Given the description of an element on the screen output the (x, y) to click on. 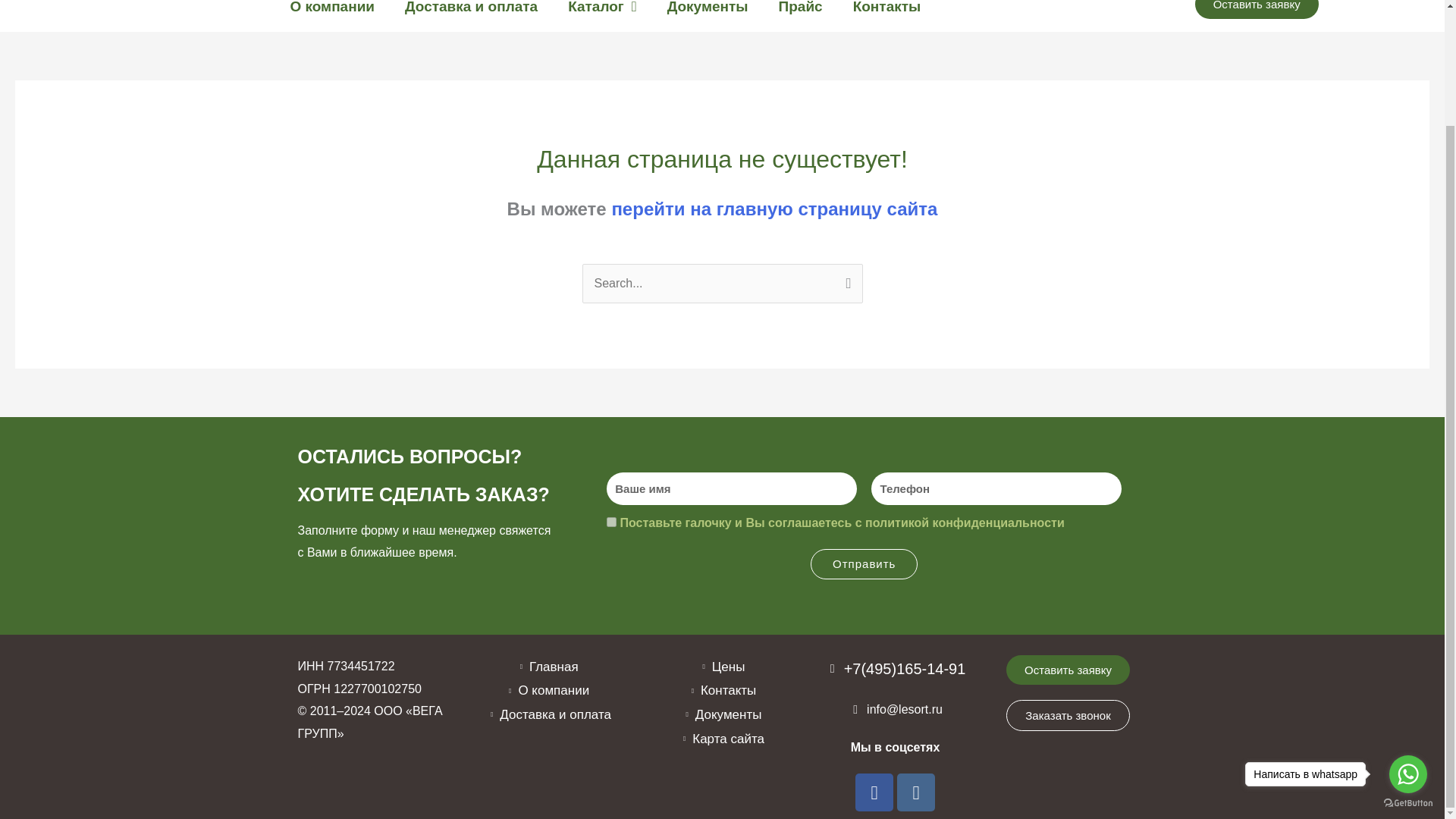
on (611, 521)
